Given the description of an element on the screen output the (x, y) to click on. 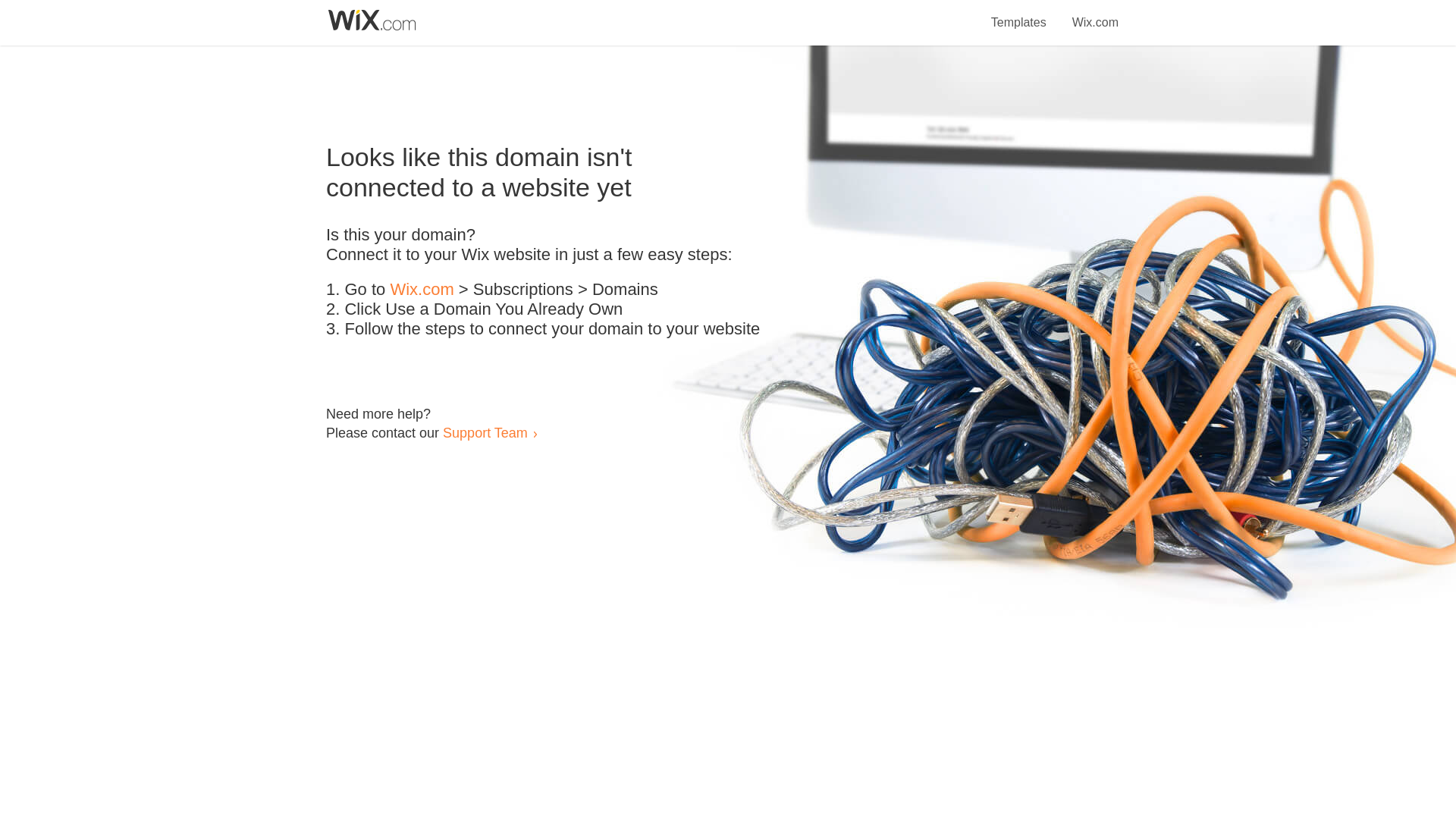
Support Team (484, 432)
Wix.com (1095, 14)
Templates (1018, 14)
Wix.com (421, 289)
